Given the description of an element on the screen output the (x, y) to click on. 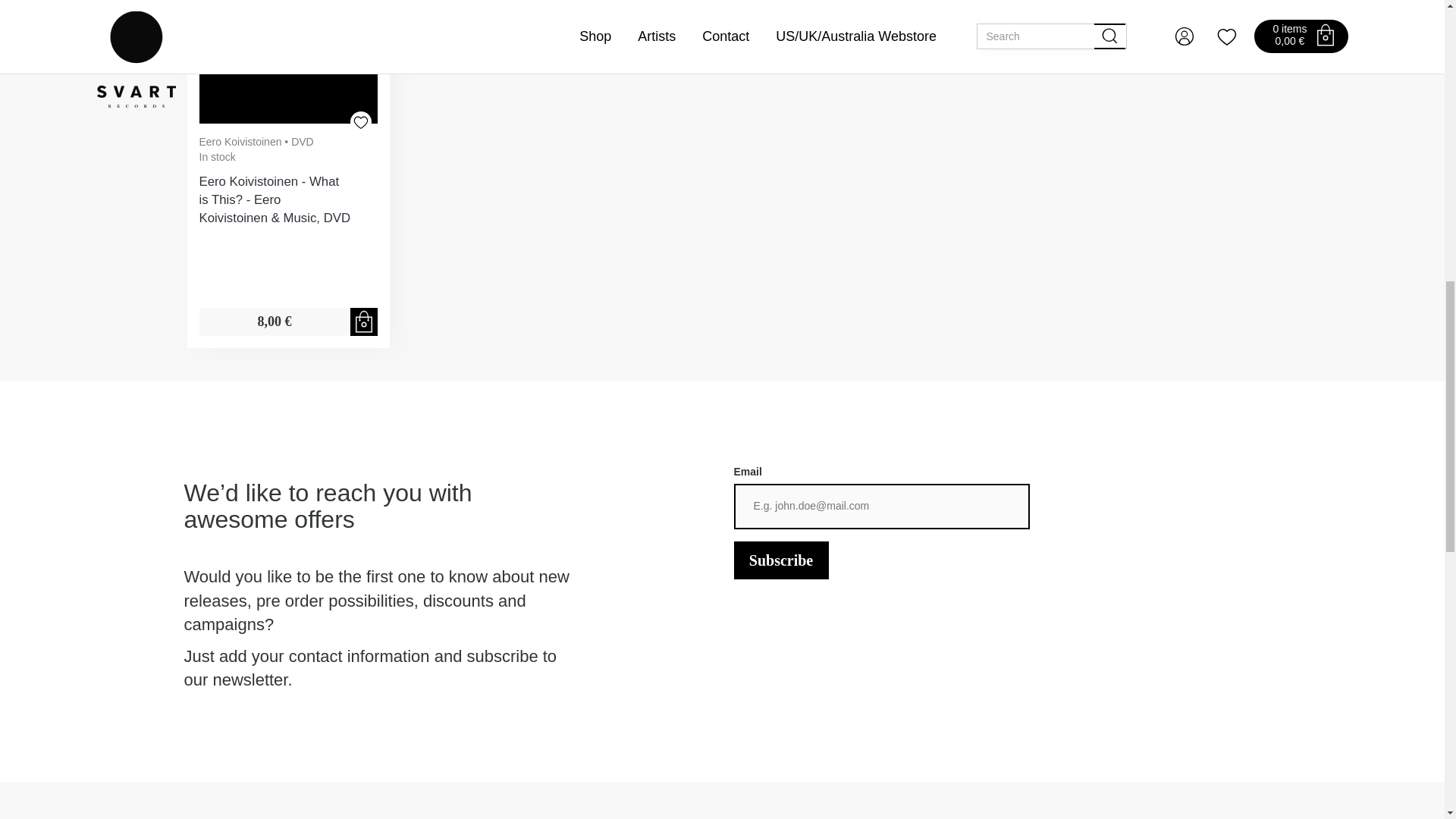
cart (363, 321)
